Given the description of an element on the screen output the (x, y) to click on. 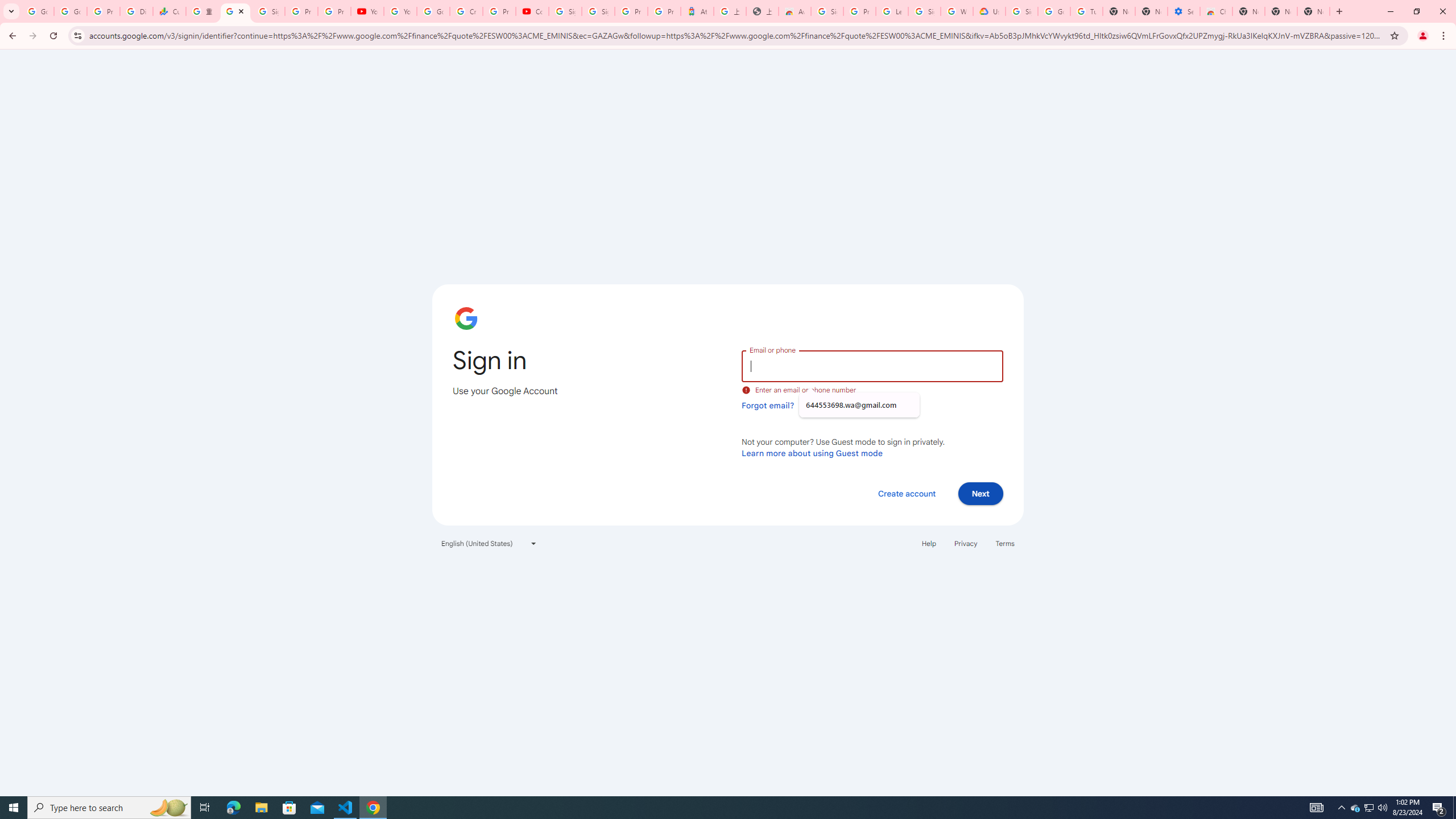
Chrome Web Store - Accessibility extensions (1216, 11)
English (United States) (489, 542)
Sign in - Google Accounts (598, 11)
Privacy Checkup (334, 11)
Google Account Help (1053, 11)
New Tab (1248, 11)
YouTube (367, 11)
